Given the description of an element on the screen output the (x, y) to click on. 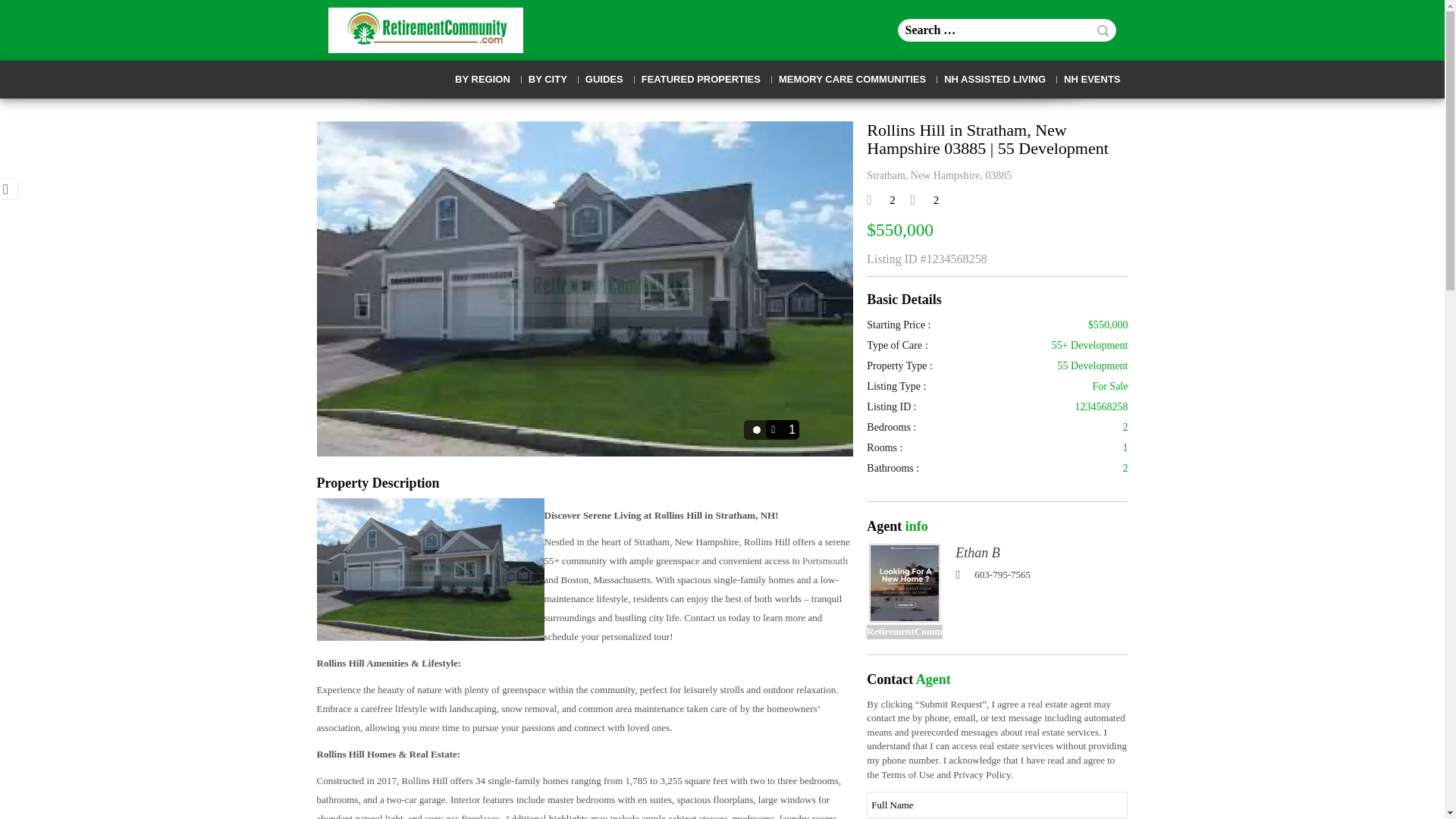
BY REGION (482, 79)
Search (1102, 30)
Ethan B (904, 582)
BY CITY (548, 79)
GUIDES (604, 79)
